Given the description of an element on the screen output the (x, y) to click on. 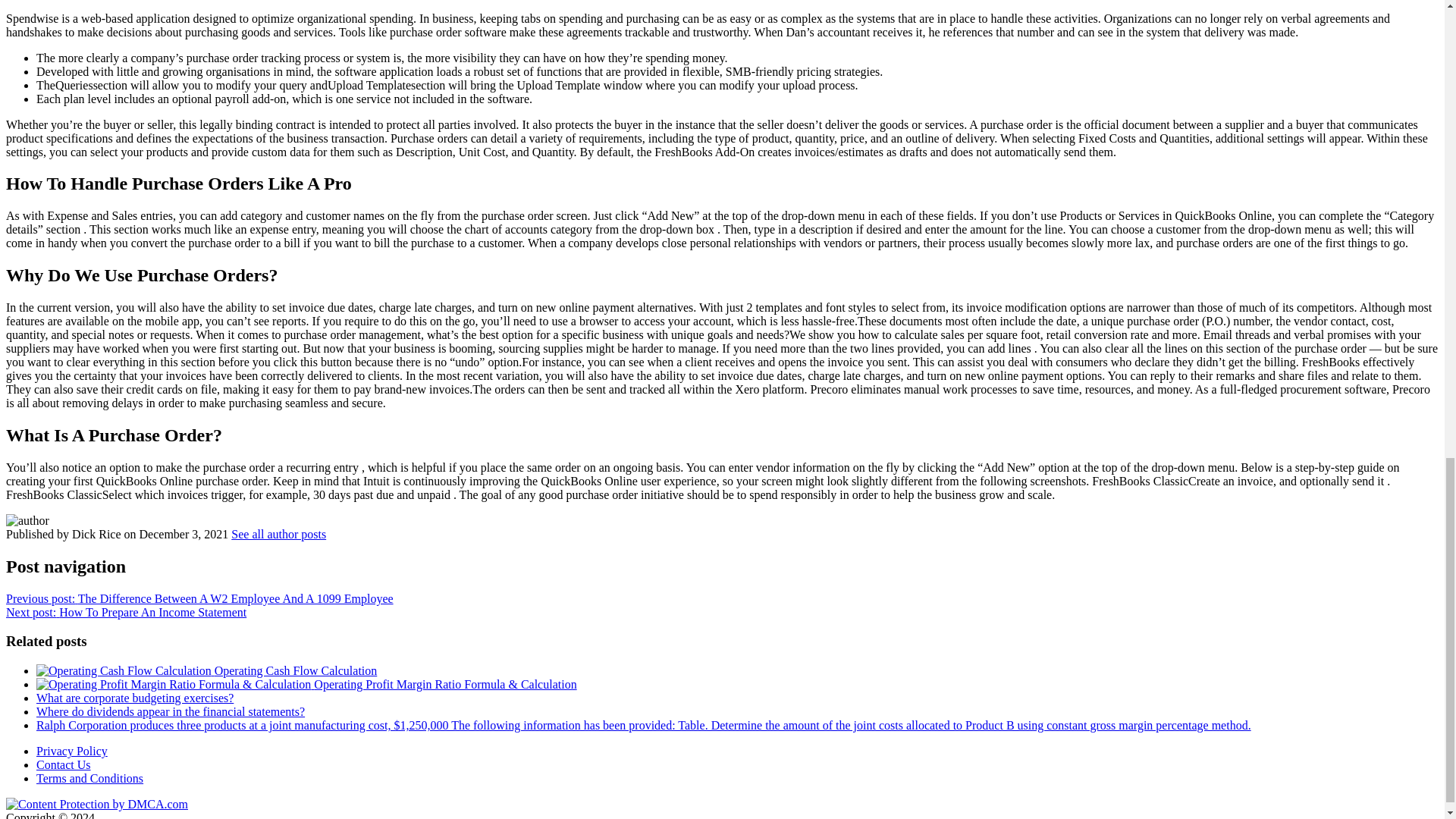
Contact Us (63, 764)
Operating Cash Flow Calculation (206, 670)
What are corporate budgeting exercises? (134, 697)
Privacy Policy (71, 750)
Next post: How To Prepare An Income Statement (125, 612)
Content Protection by DMCA.com (96, 803)
Where do dividends appear in the financial statements? (170, 711)
Terms and Conditions (89, 778)
See all author posts (278, 533)
